Given the description of an element on the screen output the (x, y) to click on. 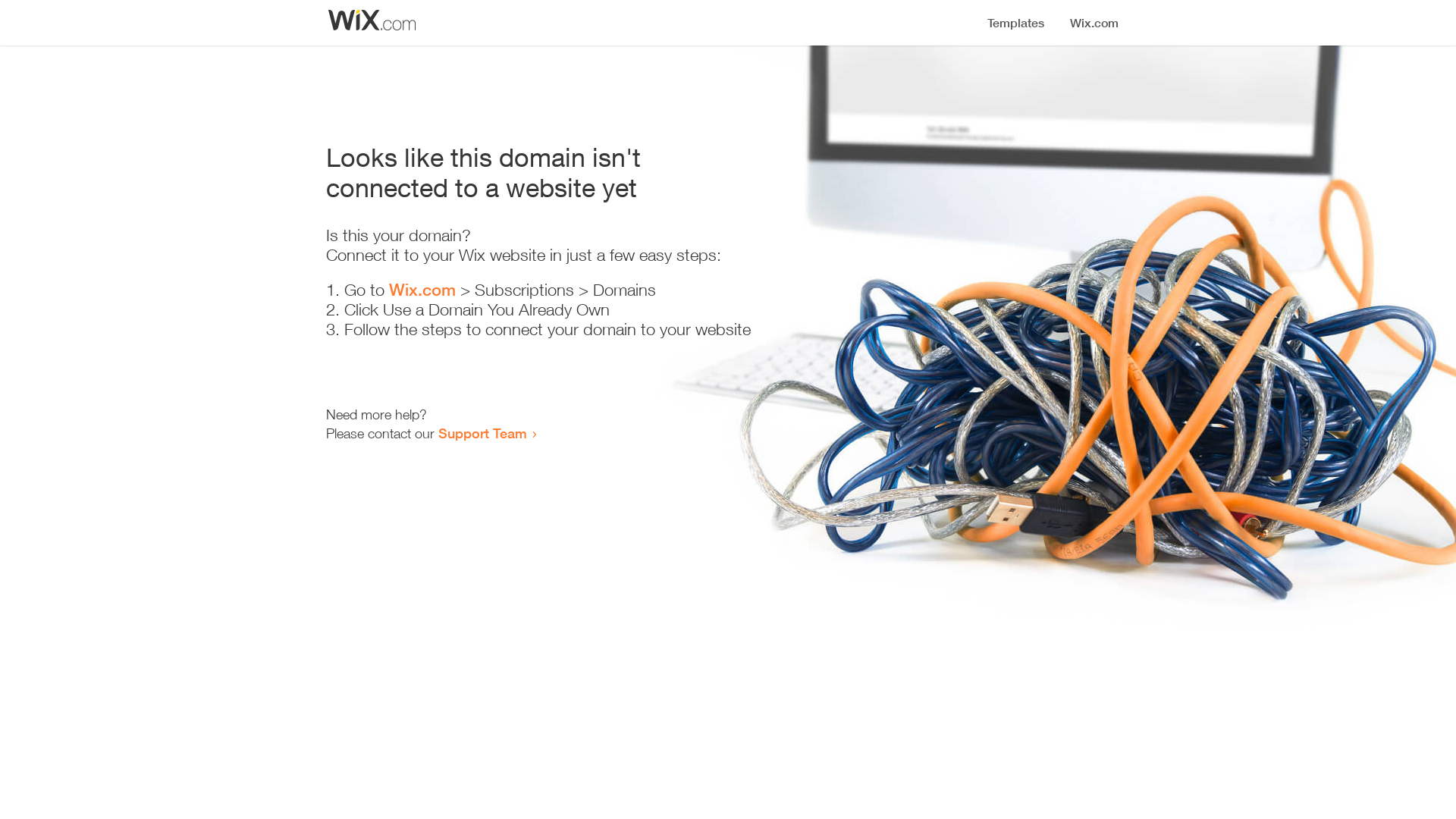
Wix.com Element type: text (422, 289)
Support Team Element type: text (482, 432)
